Given the description of an element on the screen output the (x, y) to click on. 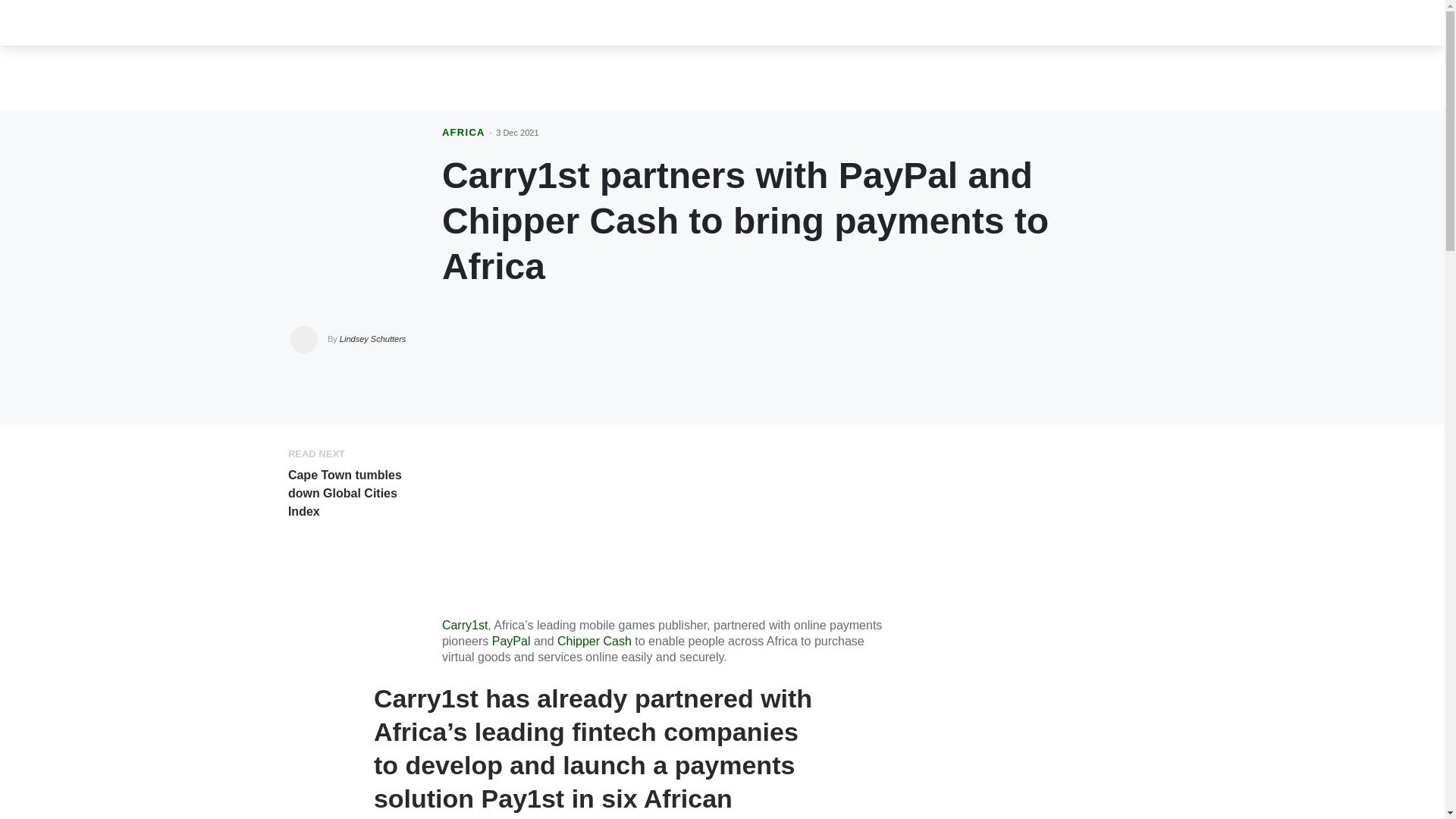
3 Dec 2021 (517, 132)
Home (266, 21)
Lindsey Schutters (372, 338)
Carry1st (464, 625)
AFRICA (463, 132)
Chipper Cash (594, 640)
PayPal (511, 640)
Cape Town tumbles down Global Cities Index (344, 492)
